Given the description of an element on the screen output the (x, y) to click on. 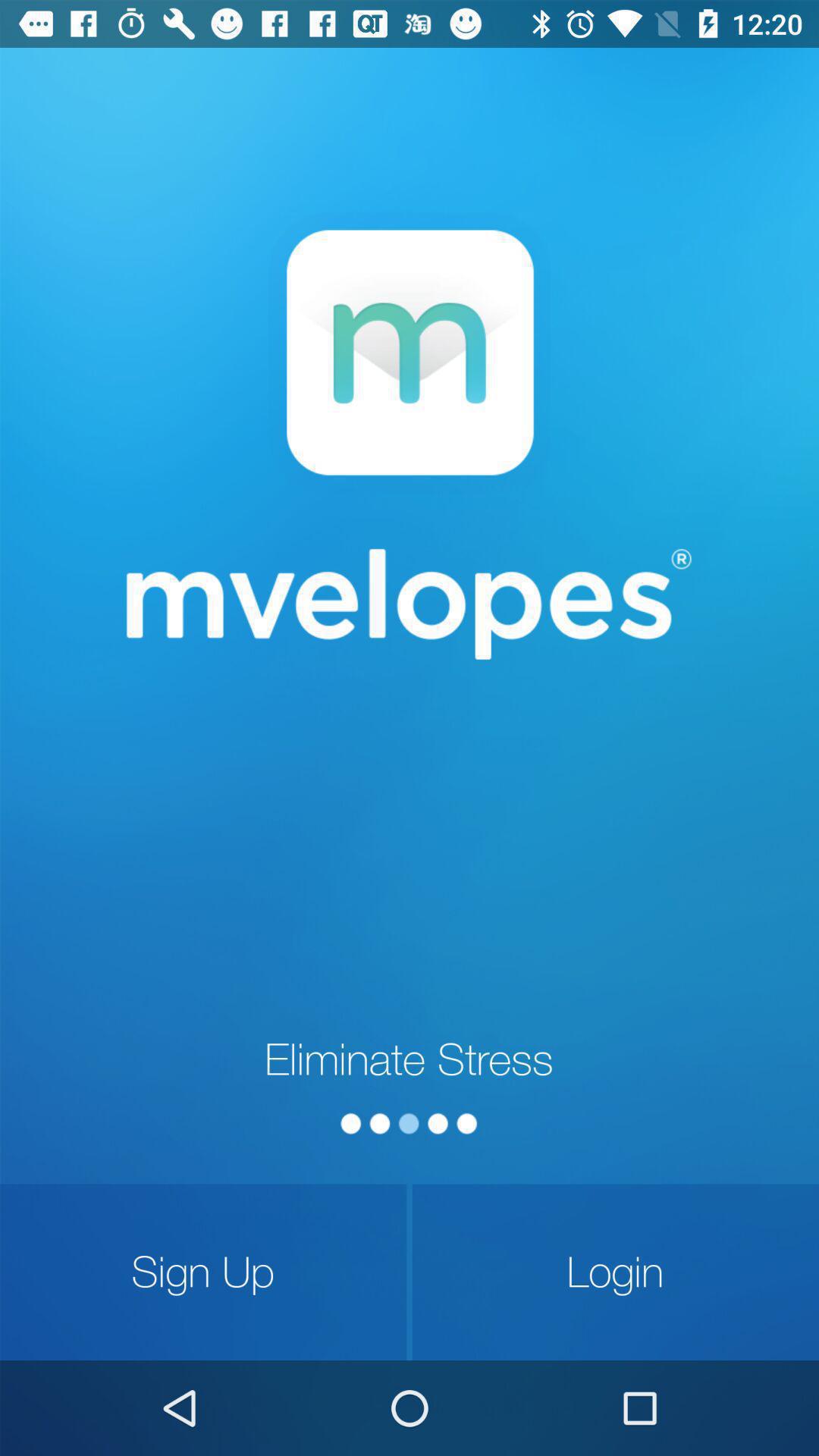
press icon next to login item (203, 1272)
